Given the description of an element on the screen output the (x, y) to click on. 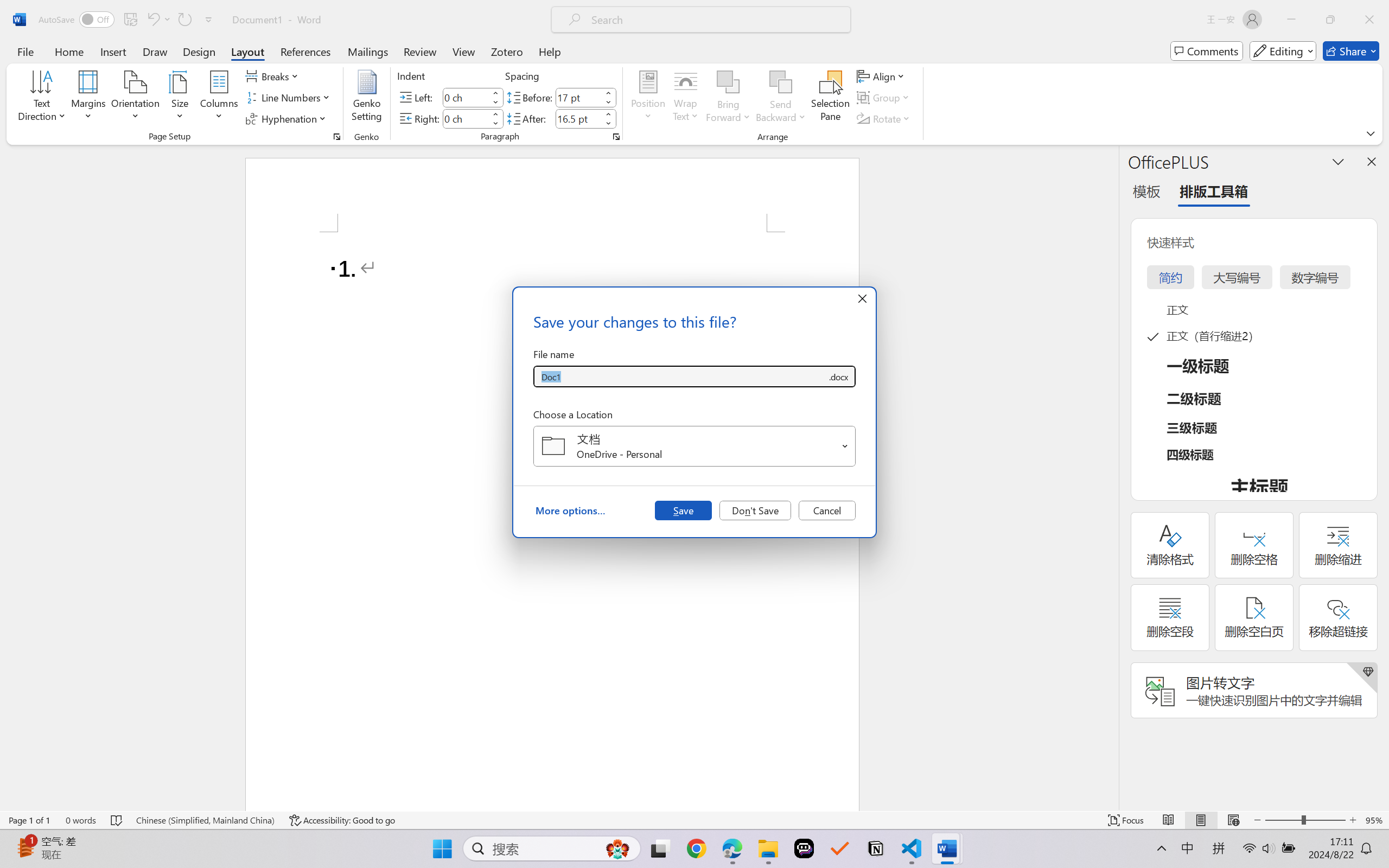
Line Numbers (289, 97)
Bring Forward (728, 81)
